Given the description of an element on the screen output the (x, y) to click on. 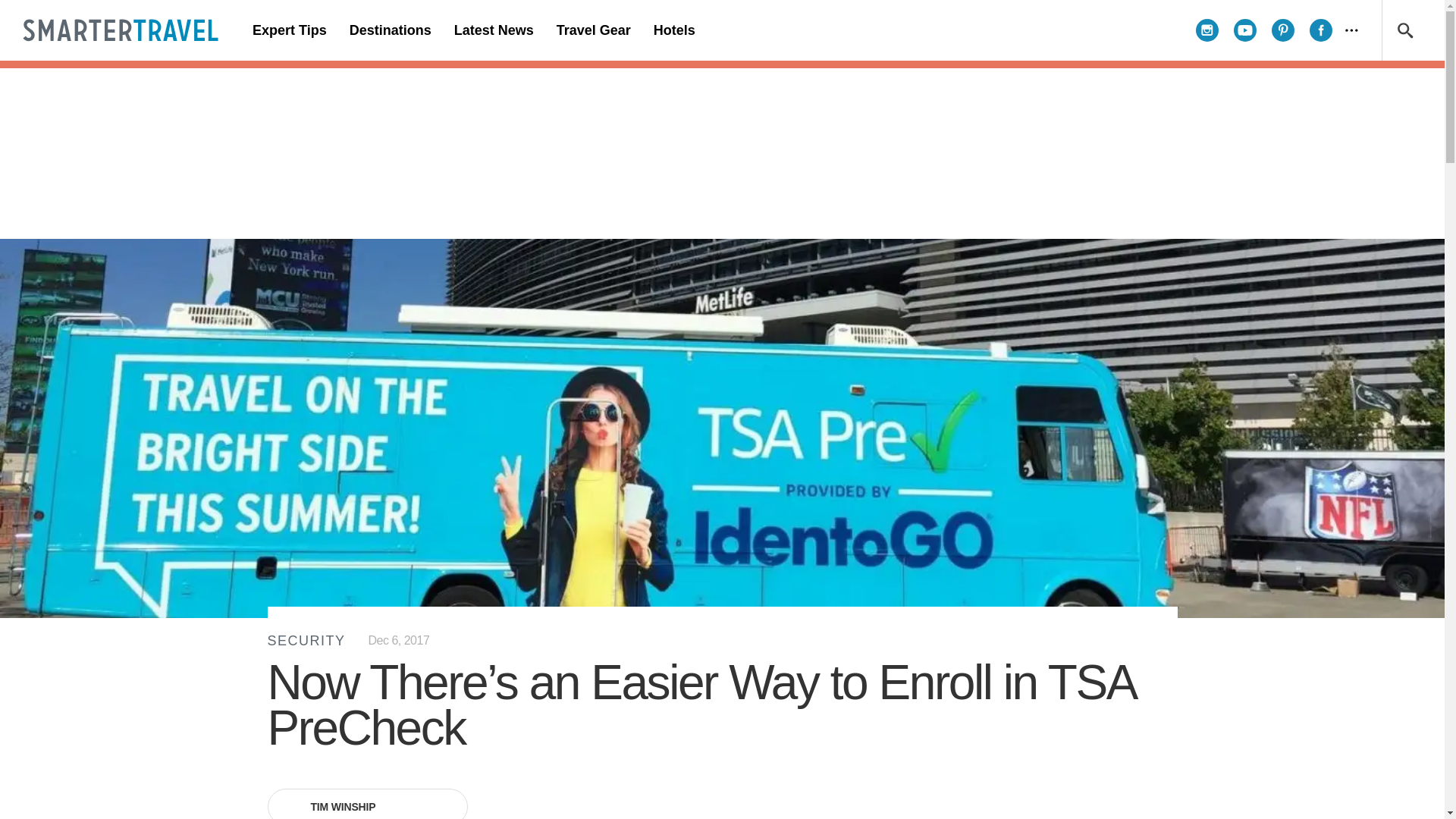
Travel Gear (593, 30)
Latest News (493, 30)
Hotels (674, 30)
Expert Tips (289, 30)
Destinations (389, 30)
